Given the description of an element on the screen output the (x, y) to click on. 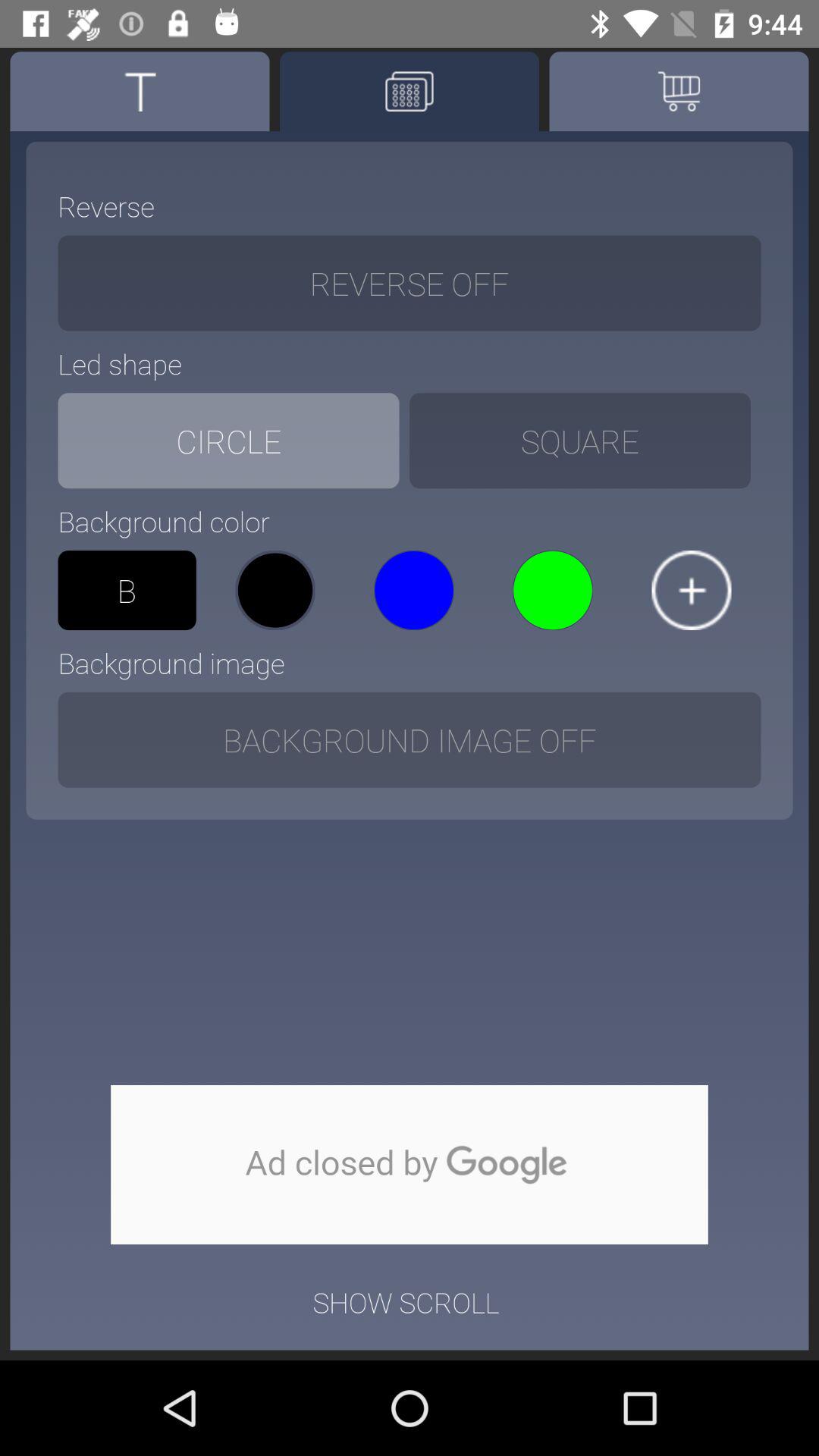
google option (409, 1164)
